Given the description of an element on the screen output the (x, y) to click on. 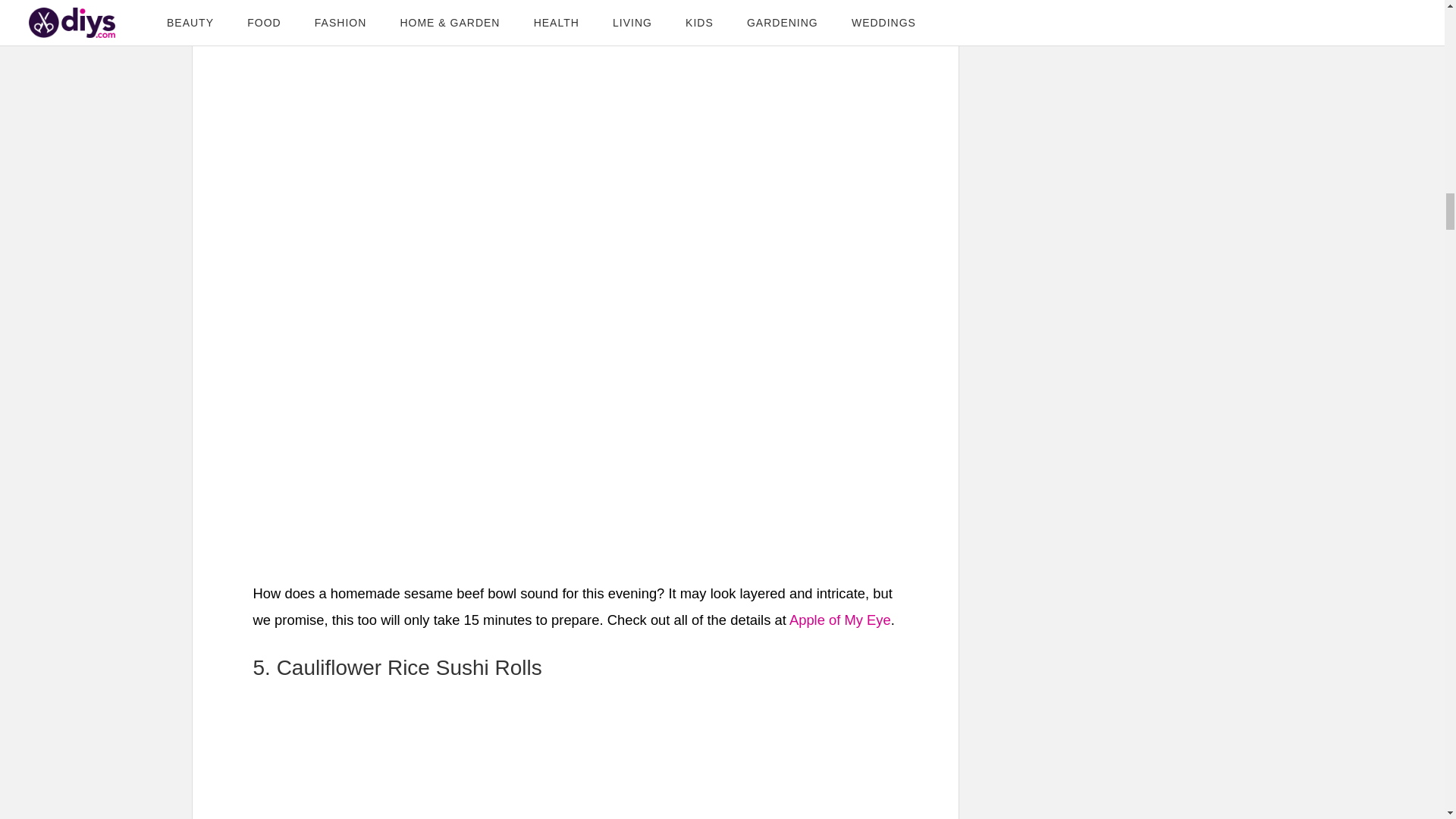
Apple of My Eye (840, 619)
